Given the description of an element on the screen output the (x, y) to click on. 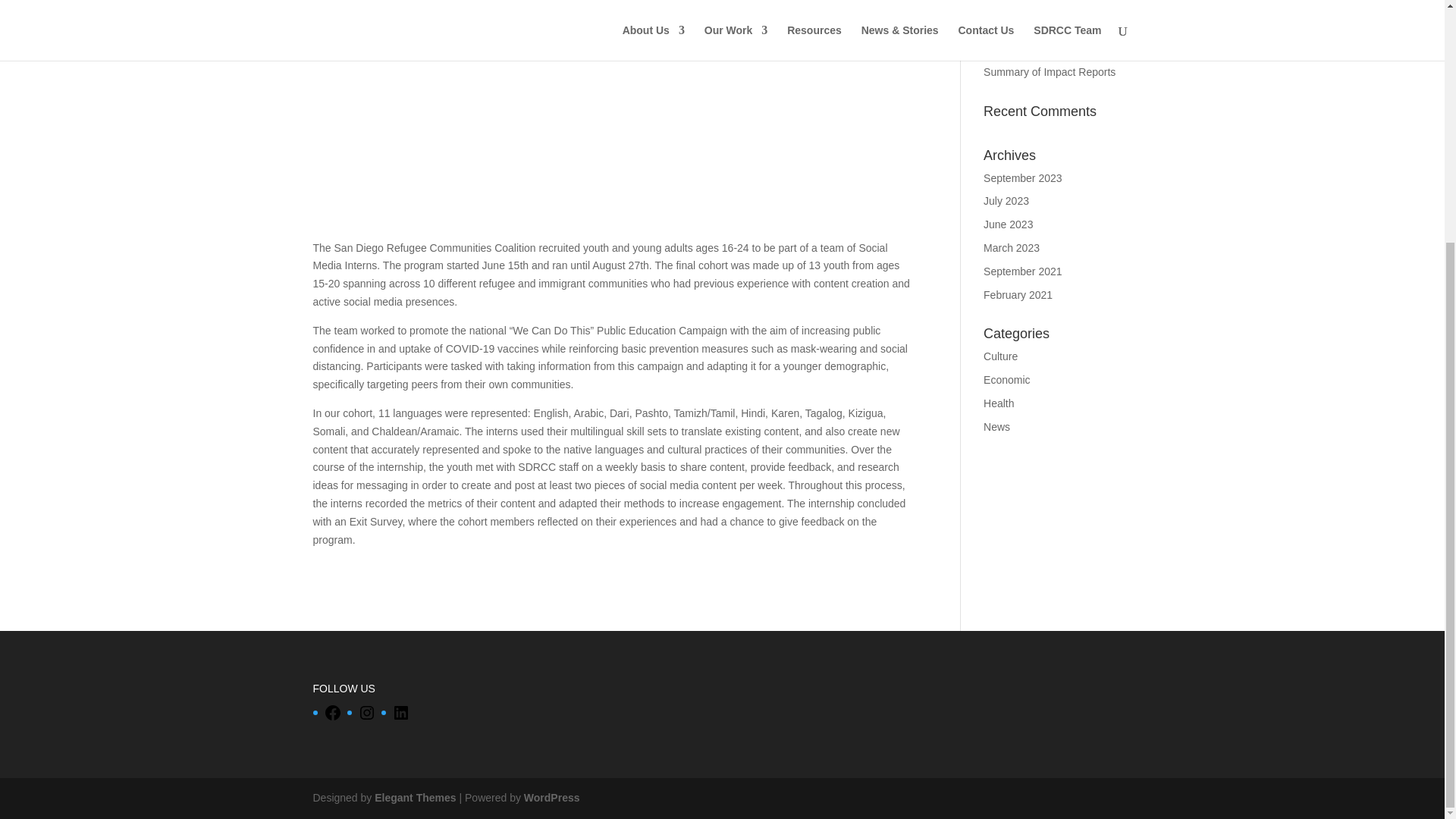
February 2021 (1018, 295)
Culture (1000, 356)
March 2023 (1011, 247)
September 2021 (1023, 271)
Health (998, 403)
Summary of Impact Reports (1049, 71)
July 2023 (1006, 200)
Economic (1006, 379)
June 2023 (1008, 224)
September 2023 (1023, 177)
Premium WordPress Themes (414, 797)
